Given the description of an element on the screen output the (x, y) to click on. 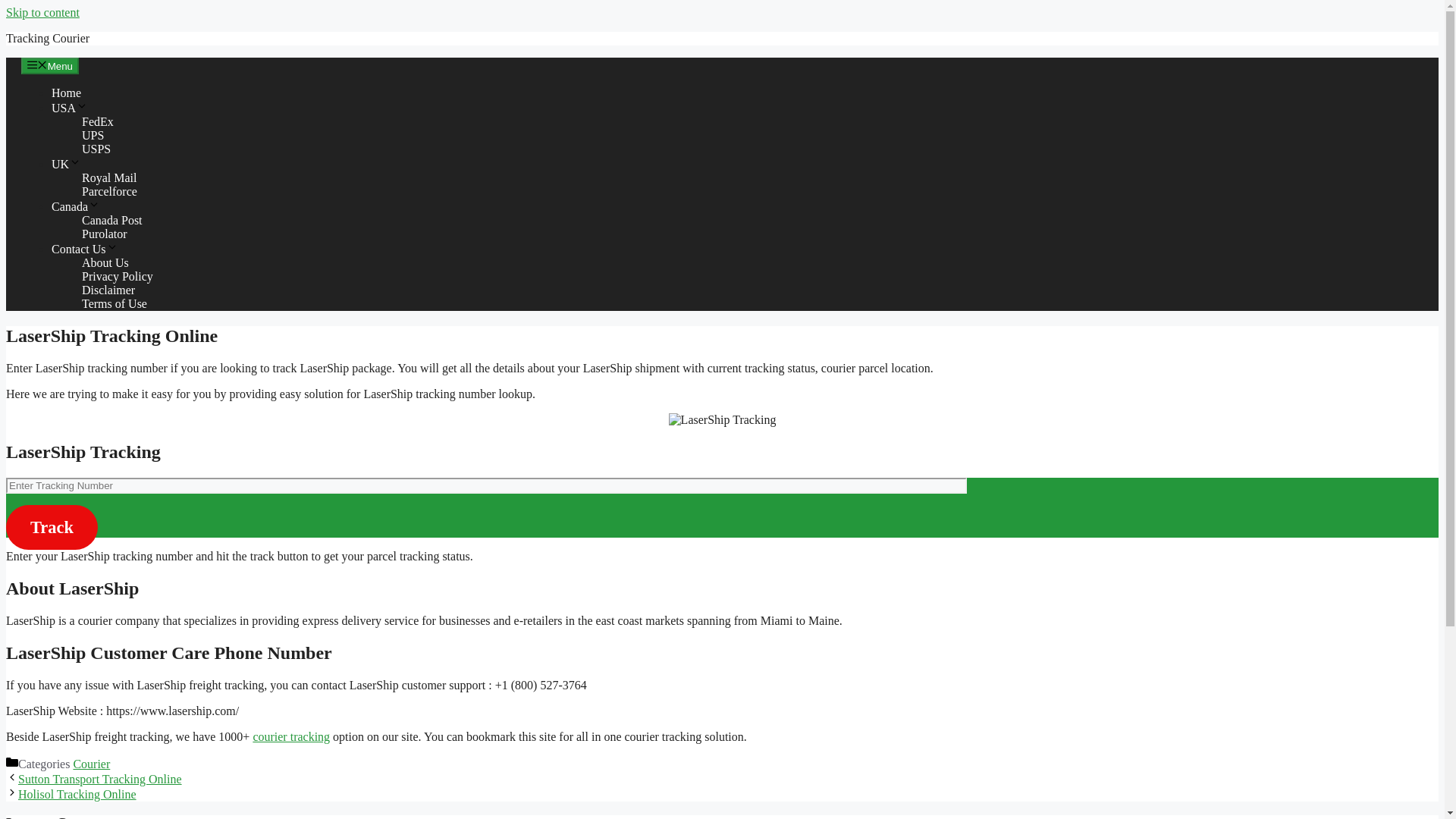
Track (51, 527)
Menu (49, 65)
USA (68, 107)
UPS (92, 134)
Purolator (104, 233)
Terms of Use (114, 303)
Royal Mail (108, 177)
Contact Us (83, 248)
Holisol Tracking Online (76, 793)
USPS (95, 148)
Skip to content (42, 11)
Privacy Policy (116, 276)
Canada (75, 205)
Parcelforce (108, 191)
Home (65, 92)
